Given the description of an element on the screen output the (x, y) to click on. 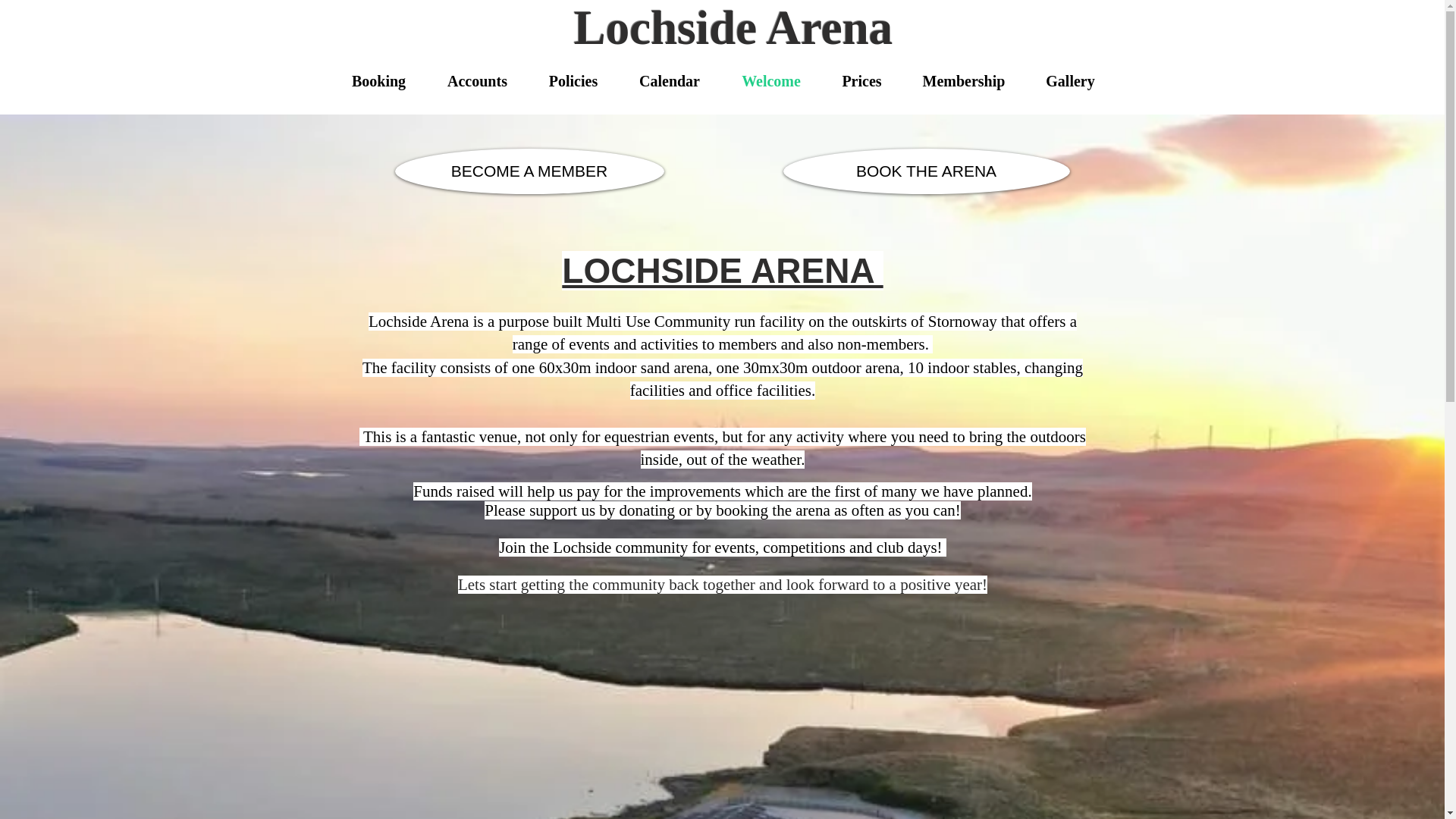
Booking (378, 80)
Membership (964, 80)
Accounts (476, 80)
Policies (572, 80)
Welcome (770, 80)
BOOK THE ARENA (925, 171)
Calendar (669, 80)
Prices (862, 80)
BECOME A MEMBER (528, 171)
Gallery (1070, 80)
